Given the description of an element on the screen output the (x, y) to click on. 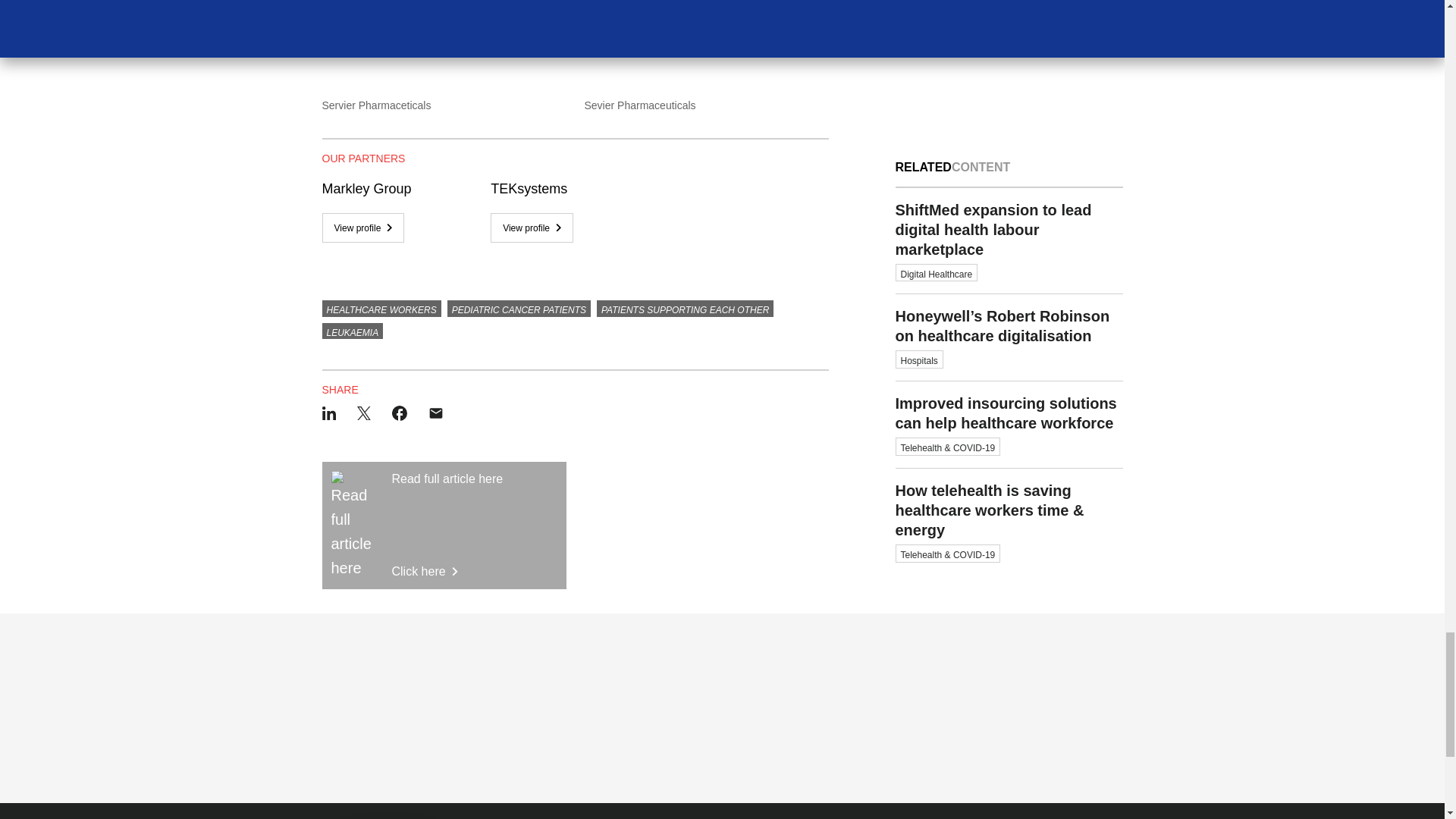
HEALTHCARE WORKERS (381, 308)
PATIENTS SUPPORTING EACH OTHER (684, 308)
LEUKAEMIA (351, 330)
PEDIATRIC CANCER PATIENTS (518, 308)
View profile (443, 524)
View profile (531, 227)
